Given the description of an element on the screen output the (x, y) to click on. 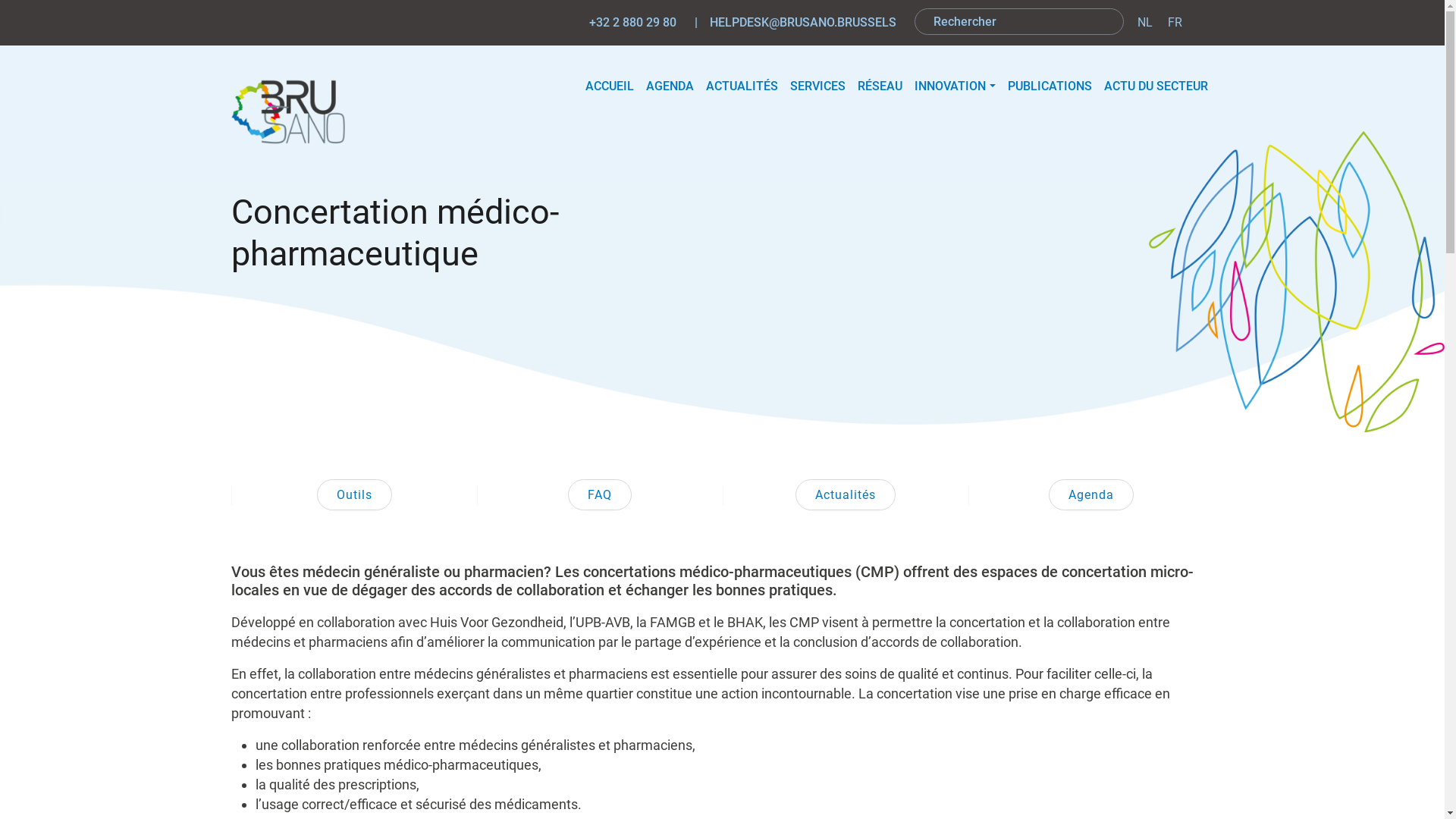
ACTU DU SECTEUR Element type: text (1156, 86)
+32 2 880 29 80 Element type: text (637, 22)
PUBLICATIONS Element type: text (1049, 86)
INNOVATION Element type: text (954, 86)
Agenda Element type: text (1090, 494)
NL Element type: text (1144, 22)
ACCUEIL Element type: text (609, 86)
AGENDA Element type: text (669, 86)
SERVICES Element type: text (817, 86)
HELPDESK@BRUSANO.BRUSSELS Element type: text (808, 22)
Outils Element type: text (354, 494)
FAQ Element type: text (599, 494)
FR Element type: text (1174, 22)
